Given the description of an element on the screen output the (x, y) to click on. 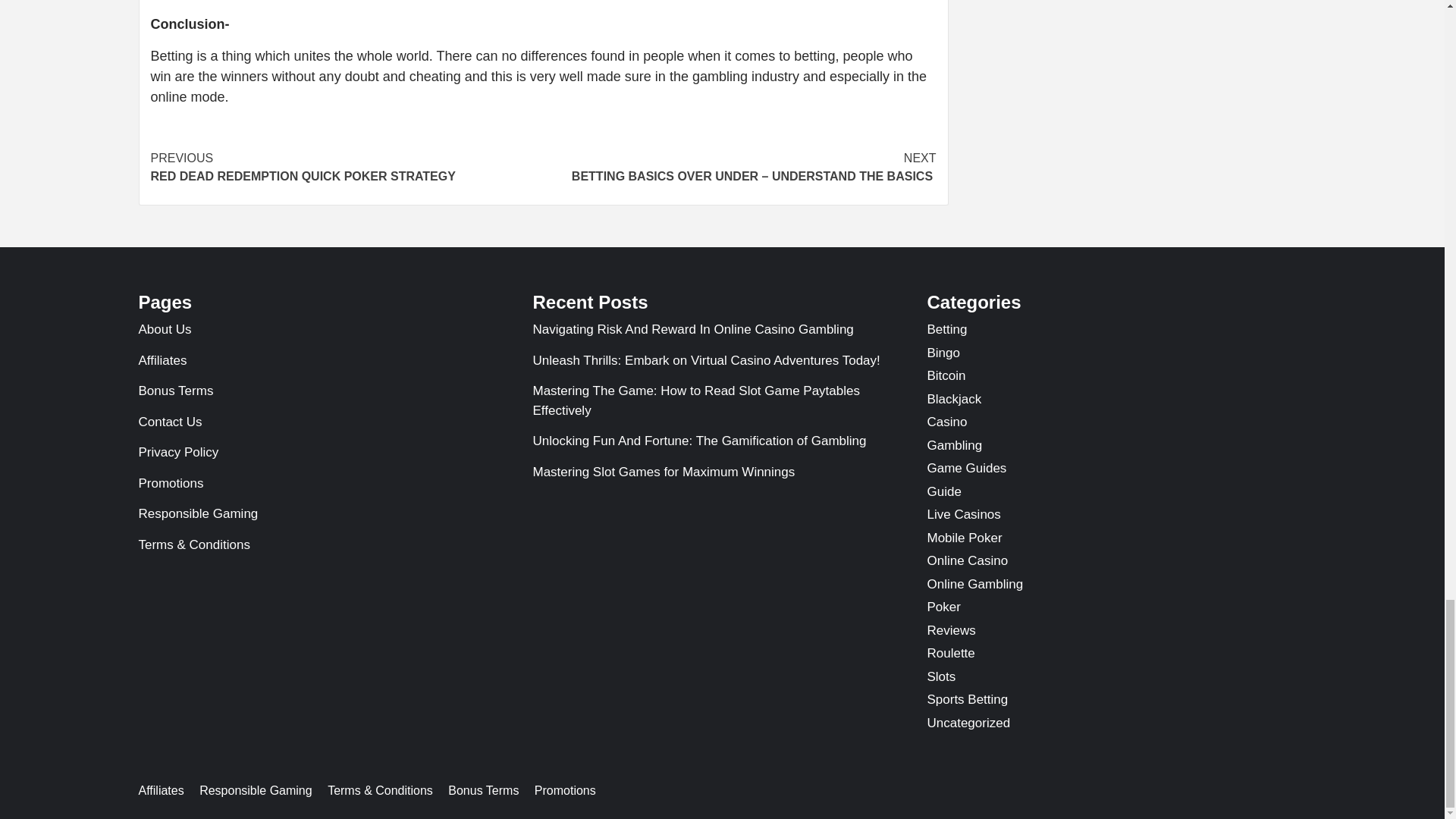
Promotions (327, 487)
About Us (327, 333)
Bonus Terms (327, 394)
Privacy Policy (327, 456)
Affiliates (327, 364)
Contact Us (327, 425)
Navigating Risk And Reward In Online Casino Gambling (721, 333)
Responsible Gaming (327, 517)
